Given the description of an element on the screen output the (x, y) to click on. 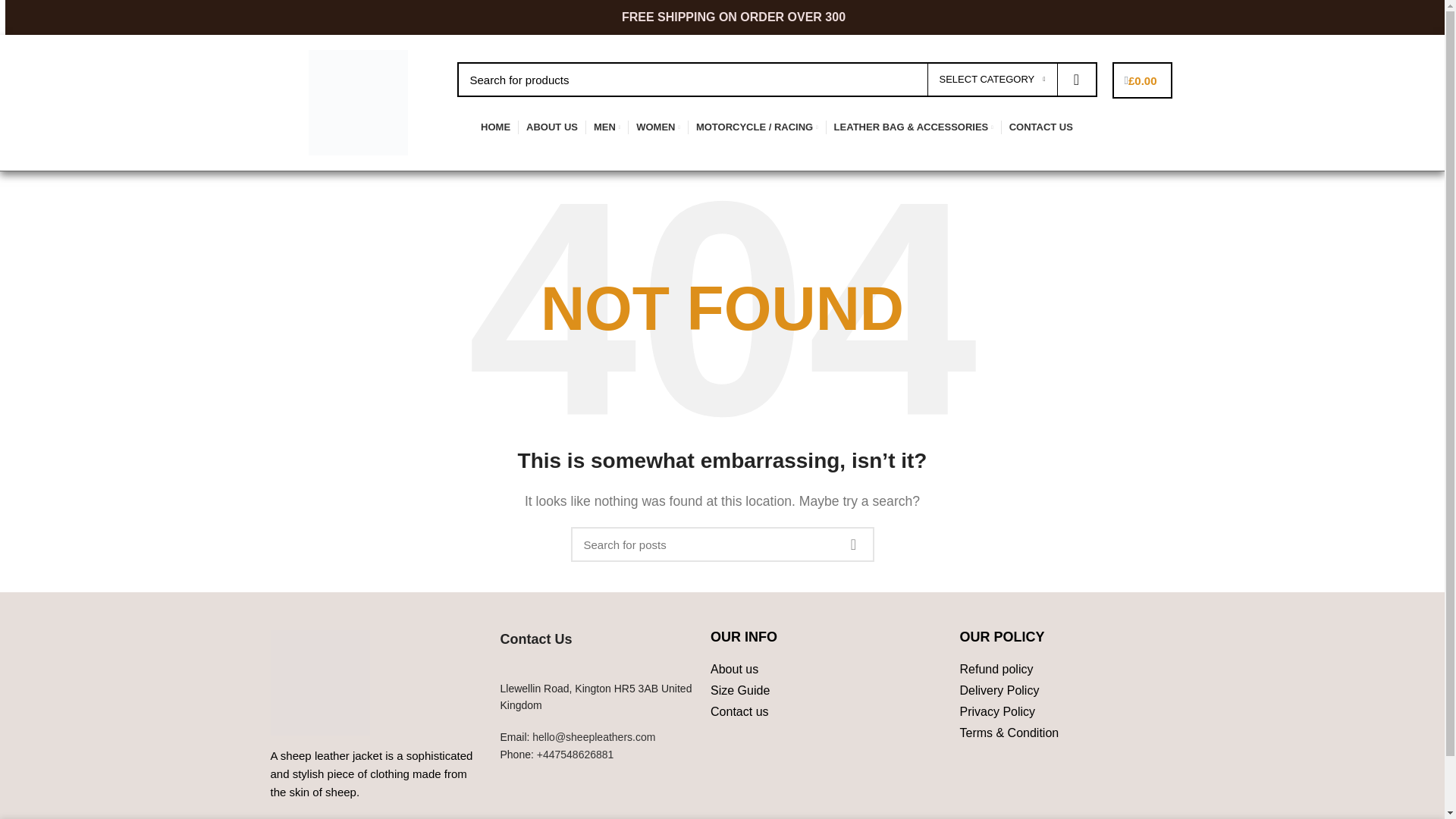
Search for products (776, 79)
SELECT CATEGORY (991, 79)
SELECT CATEGORY (991, 79)
Search for posts (721, 544)
